Given the description of an element on the screen output the (x, y) to click on. 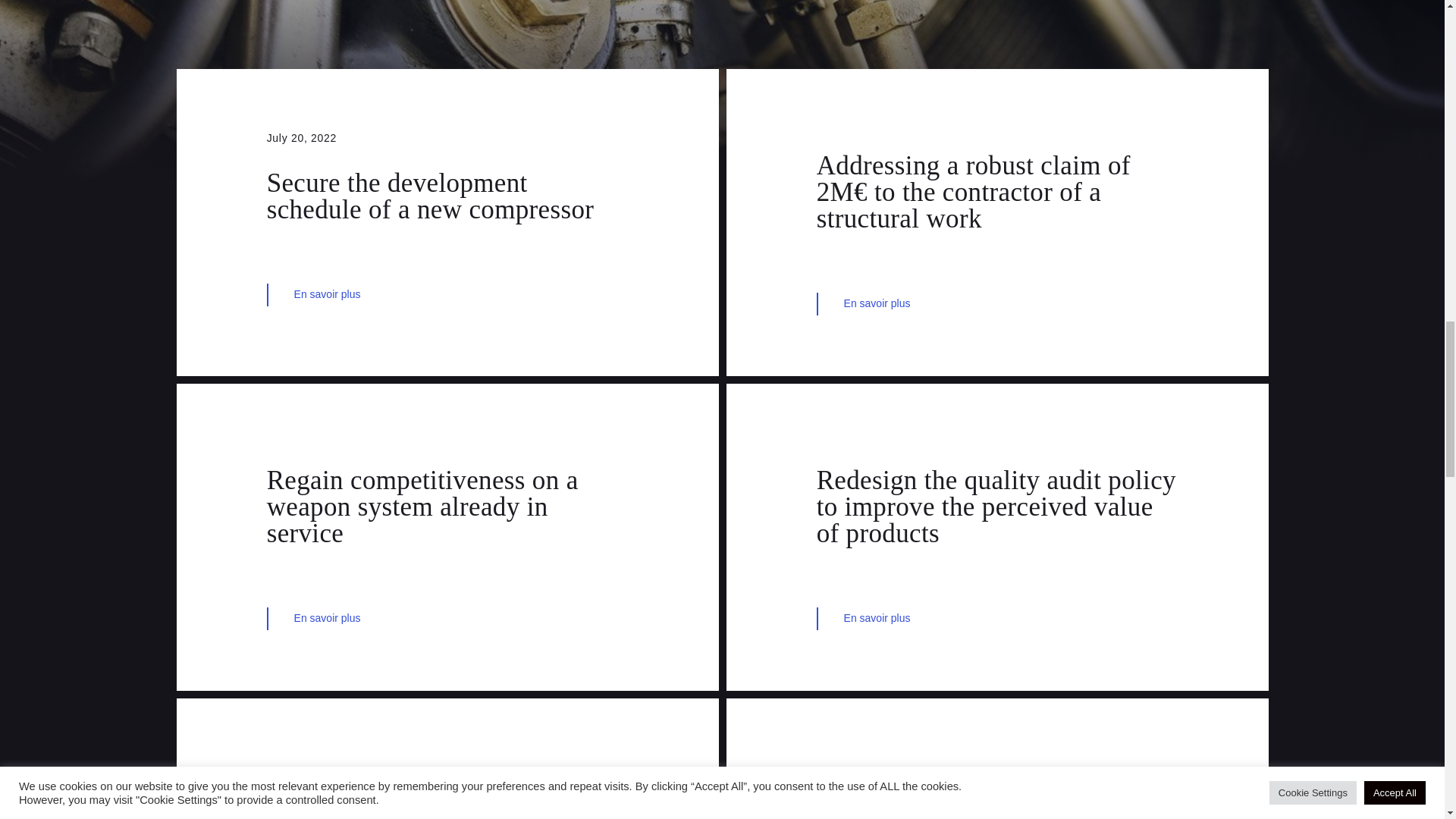
En savoir plus (996, 303)
En savoir plus (996, 618)
En savoir plus (447, 294)
En savoir plus (447, 618)
